Given the description of an element on the screen output the (x, y) to click on. 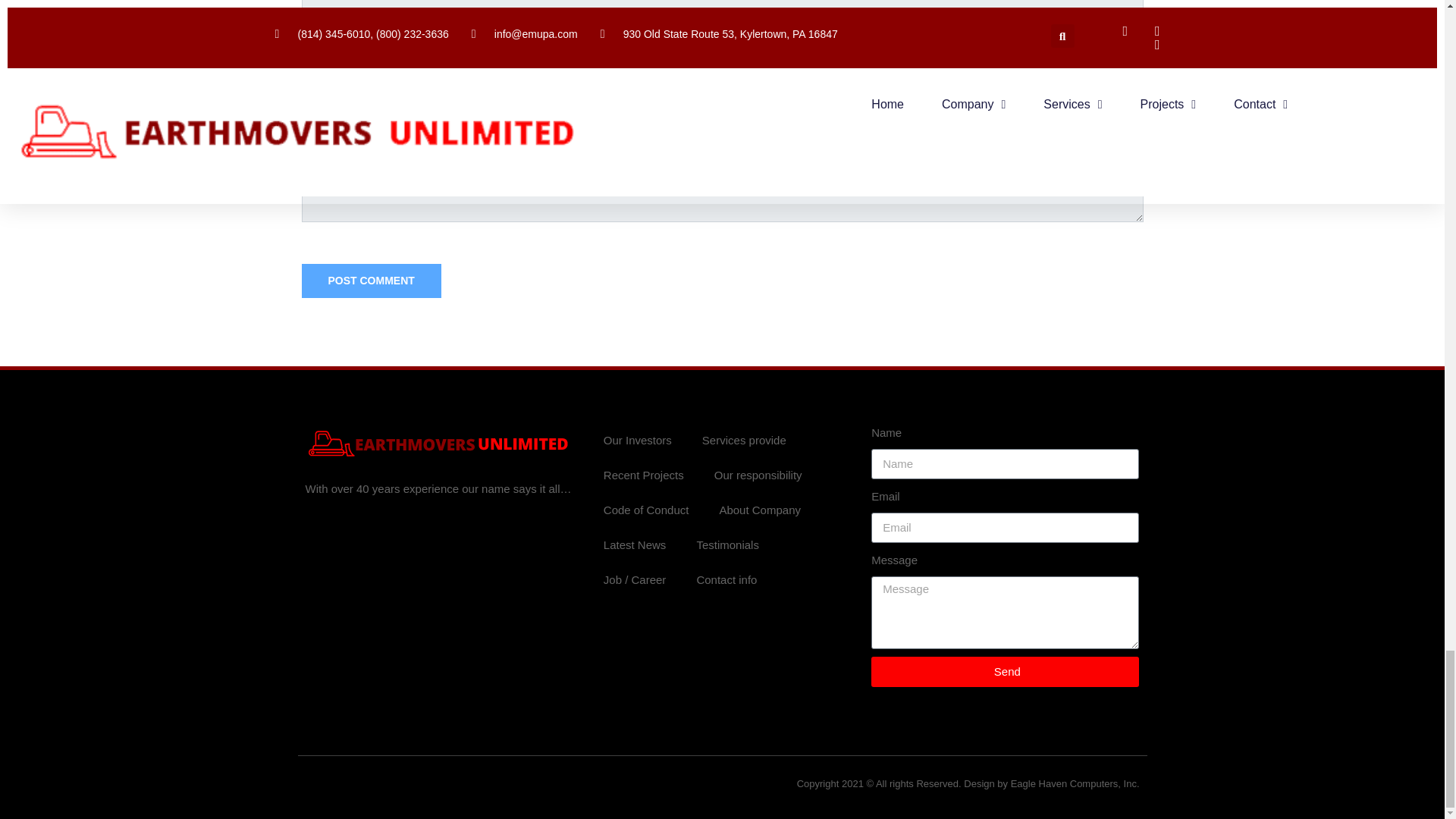
Post Comment (371, 280)
